Given the description of an element on the screen output the (x, y) to click on. 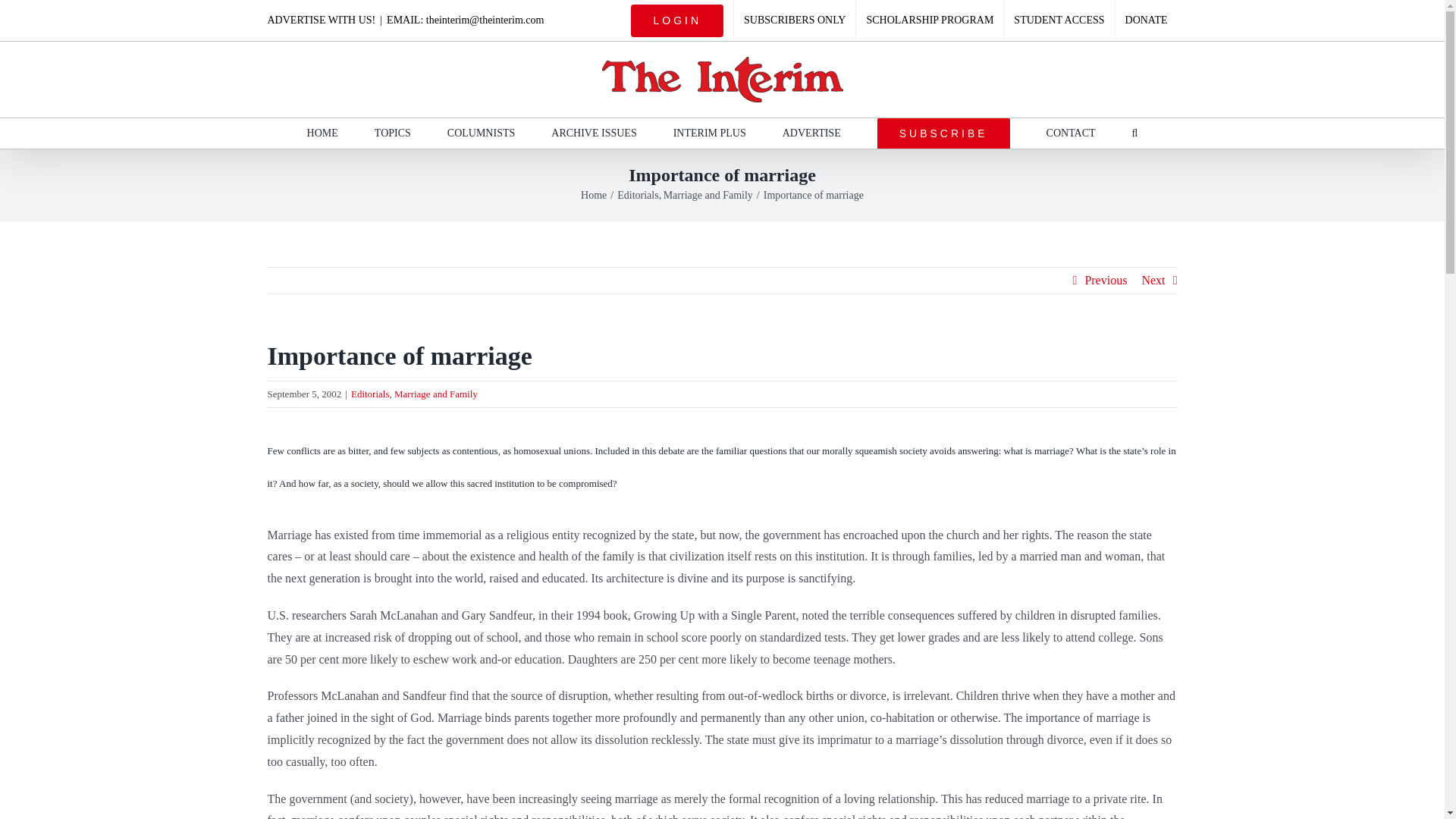
Editorials (370, 393)
Editorials (637, 194)
LOGIN (677, 20)
INTERIM PLUS (708, 132)
DONATE (1146, 20)
STUDENT ACCESS (1058, 20)
HOME (322, 132)
ADVERTISE (812, 132)
SUBSCRIBE (943, 132)
COLUMNISTS (480, 132)
